Given the description of an element on the screen output the (x, y) to click on. 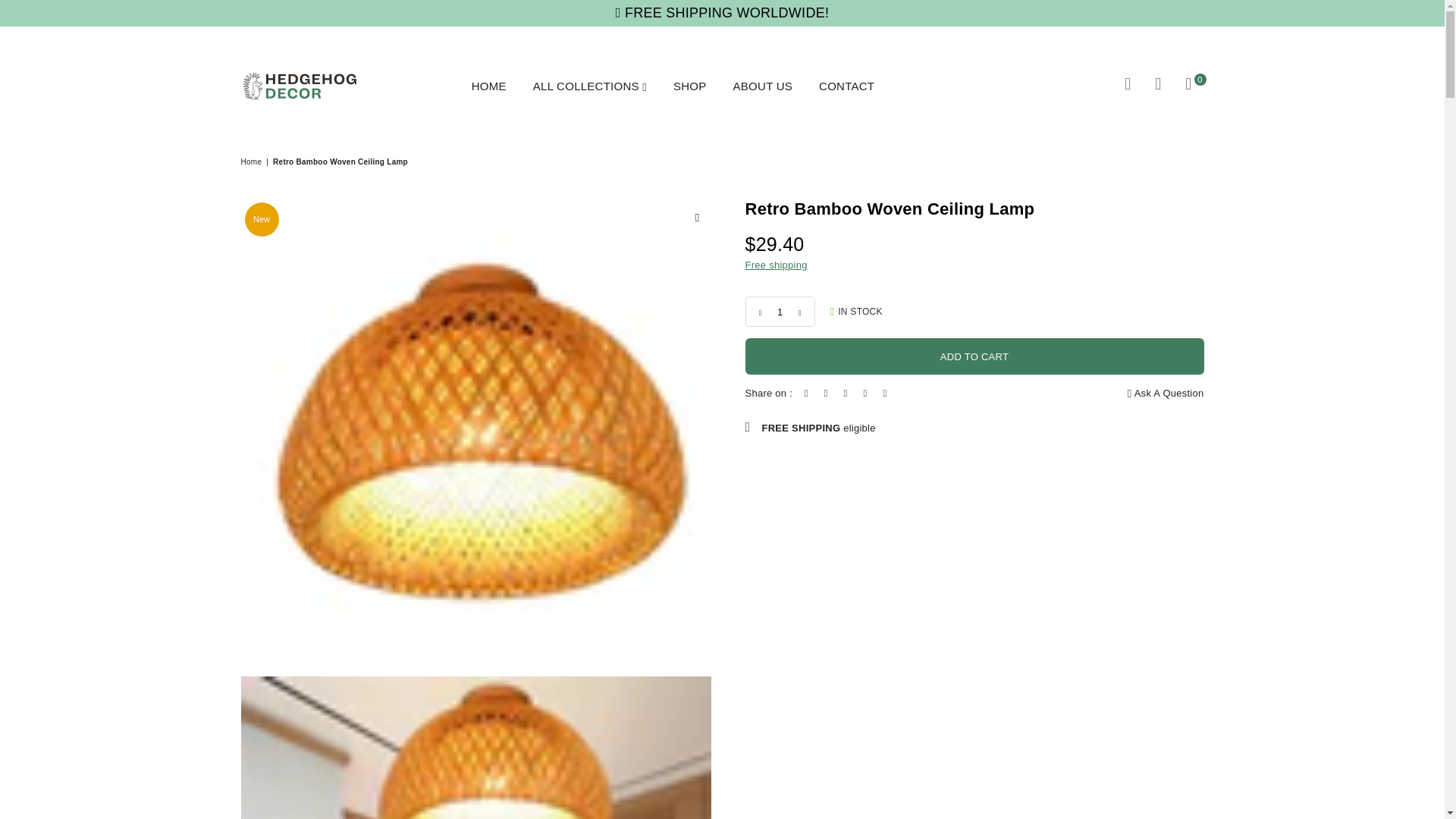
ALL COLLECTIONS (589, 86)
Pin on Pinterest (845, 393)
HEDGEHOG DECOR (301, 87)
ABOUT US (763, 86)
SHOP (689, 86)
HOME (489, 86)
CONTACT (846, 86)
Share on Facebook (805, 393)
SEARCH (1127, 87)
Back to the home page (252, 162)
Quantity (778, 311)
Tweet on Twitter (825, 393)
Share on Linkedin (865, 393)
ACCOUNT (1157, 87)
0 (1188, 87)
